Given the description of an element on the screen output the (x, y) to click on. 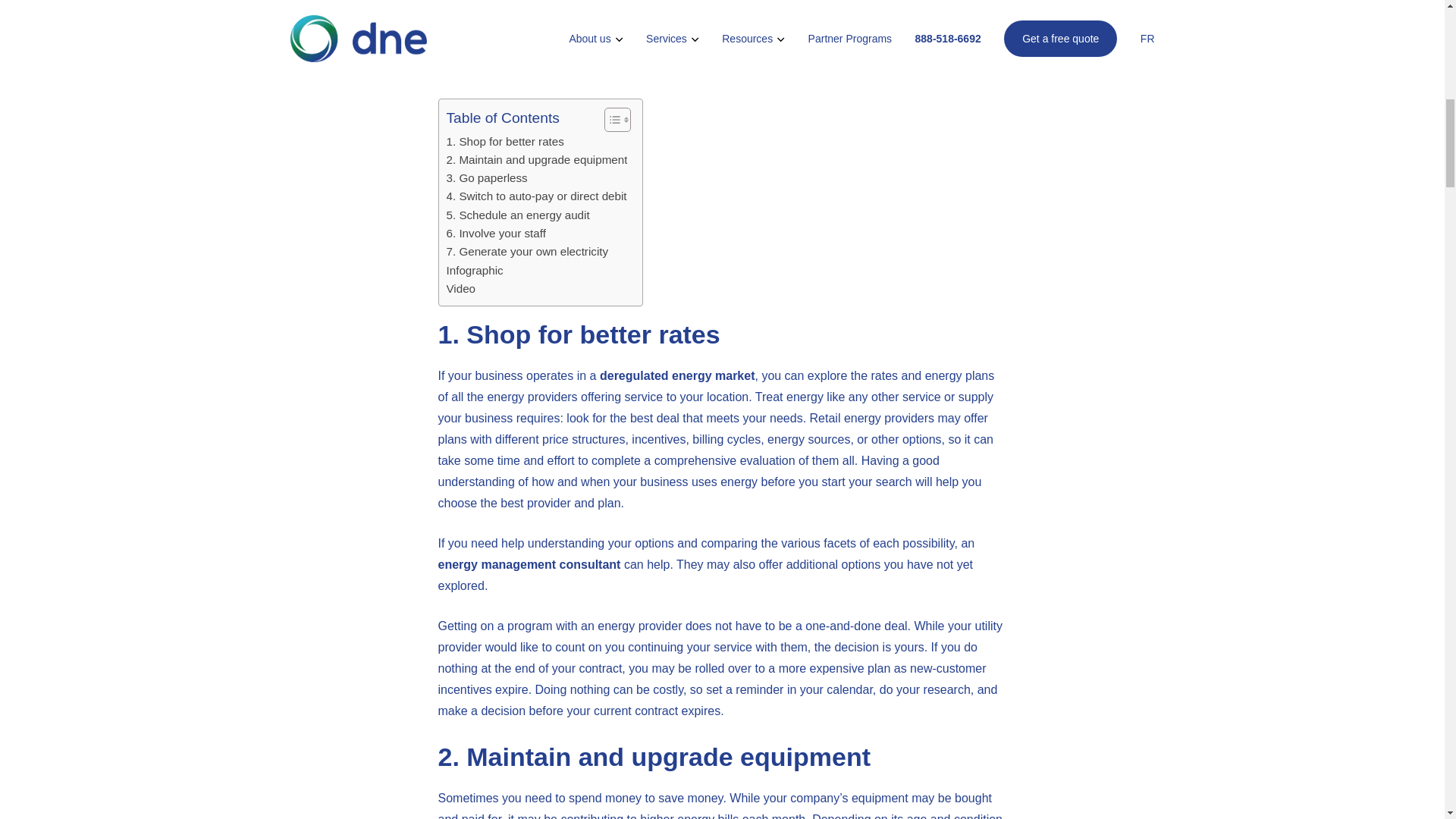
Infographic (473, 270)
3. Go paperless (486, 177)
1. Shop for better rates (504, 140)
Video (460, 289)
4. Switch to auto-pay or direct debit (535, 196)
4. Switch to auto-pay or direct debit (535, 196)
5. Schedule an energy audit (517, 215)
Infographic (473, 270)
2. Maintain and upgrade equipment (536, 159)
6. Involve your staff (494, 233)
5. Schedule an energy audit (517, 215)
2. Maintain and upgrade equipment (536, 159)
7. Generate your own electricity (526, 251)
6. Involve your staff (494, 233)
7. Generate your own electricity (526, 251)
